Given the description of an element on the screen output the (x, y) to click on. 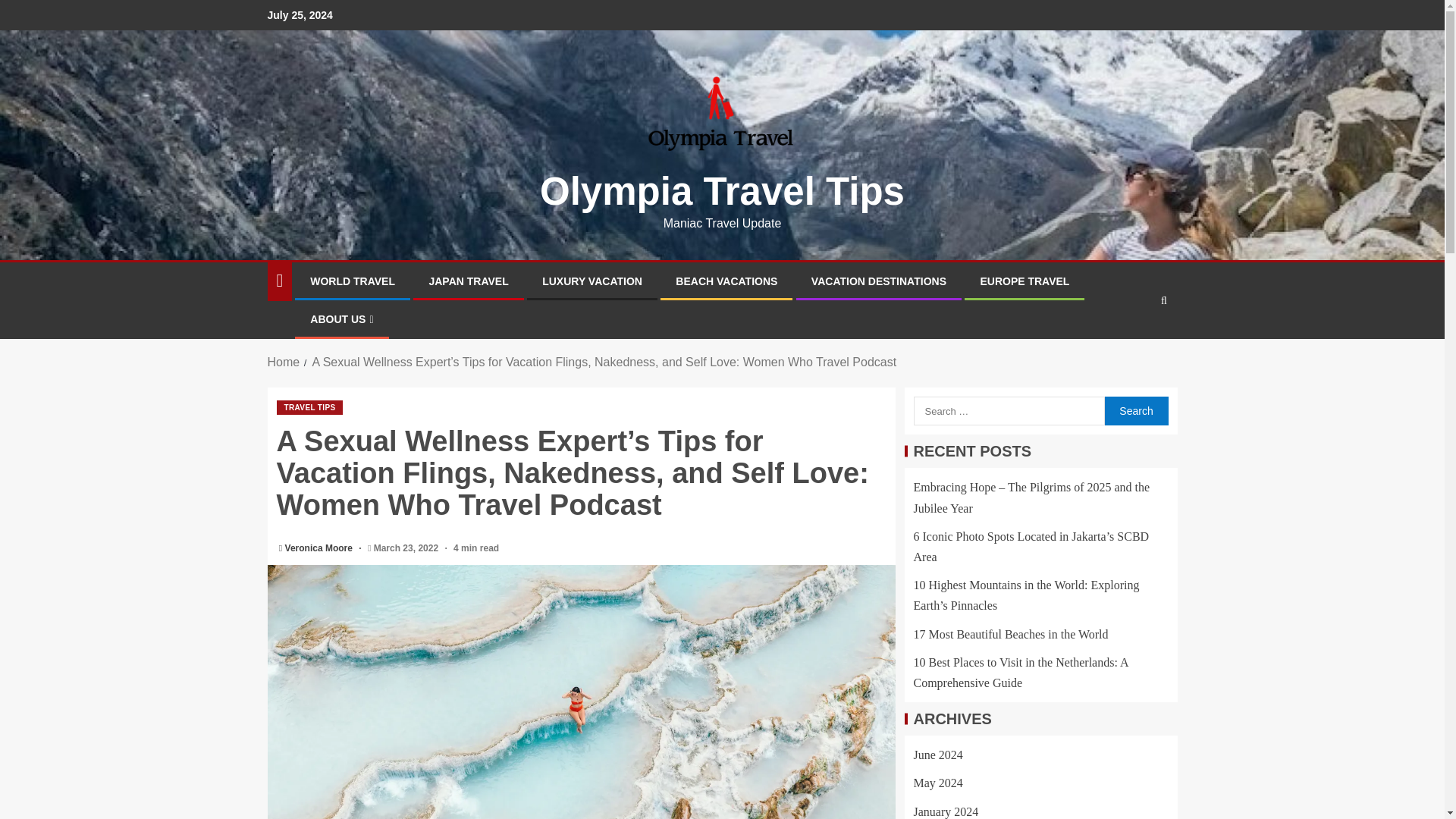
LUXURY VACATION (591, 281)
TRAVEL TIPS (309, 407)
EUROPE TRAVEL (1023, 281)
Search (1163, 300)
ABOUT US (341, 318)
WORLD TRAVEL (352, 281)
VACATION DESTINATIONS (878, 281)
Home (282, 361)
JAPAN TRAVEL (468, 281)
Search (1135, 410)
Olympia Travel Tips (722, 190)
BEACH VACATIONS (726, 281)
Search (1135, 410)
Search (1133, 346)
Veronica Moore (320, 547)
